Given the description of an element on the screen output the (x, y) to click on. 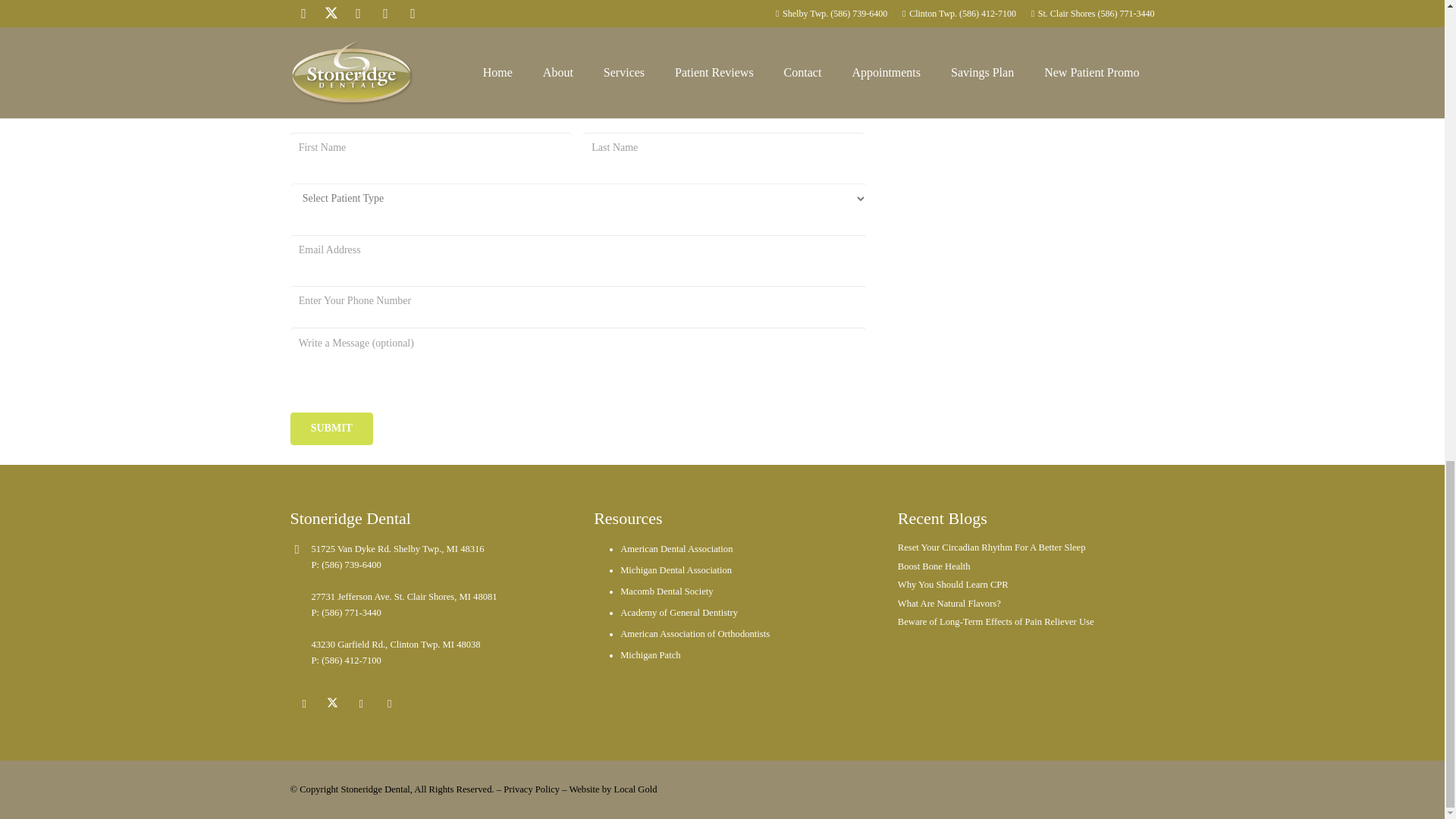
Facebook (935, 56)
LinkedIn (389, 704)
Facebook (303, 704)
Submit (330, 428)
Submit (330, 428)
LinkedIn (1027, 56)
Google (996, 56)
Google (361, 704)
Twitter (332, 704)
Twitter (965, 56)
